Given the description of an element on the screen output the (x, y) to click on. 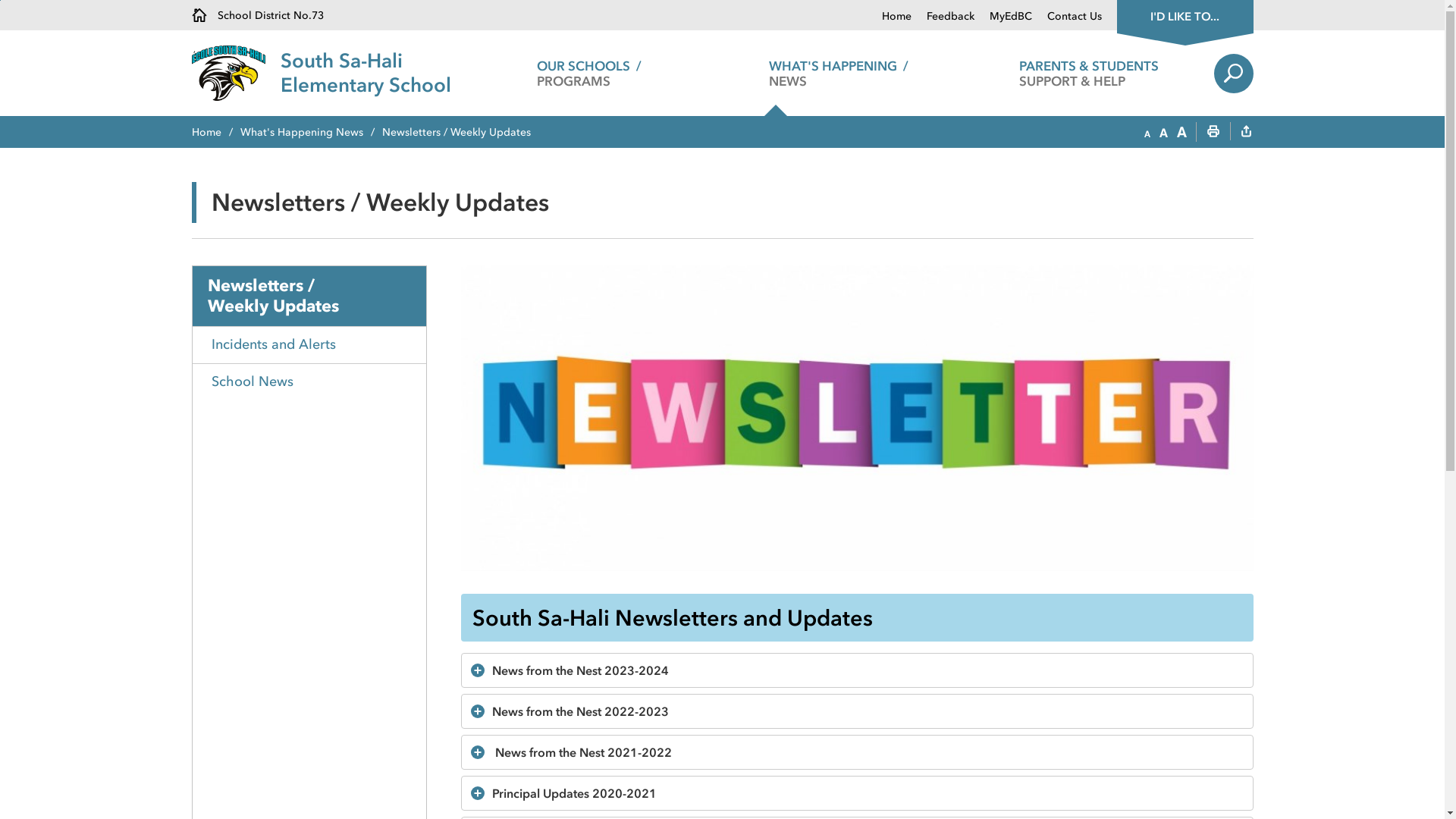
I'D LIKE TO... Element type: text (1184, 15)
Contact Us Element type: text (1066, 15)
South Sa-Hali Elementary School Element type: hover (857, 417)
Home Element type: text (895, 15)
Search Element type: text (1232, 73)
Print This Page Element type: hover (1212, 132)
Feedback Element type: text (942, 15)
South Sa-Hali
Elementary School Element type: text (365, 73)
School News Element type: text (309, 381)
School District No.73 Element type: text (257, 15)
  Element type: text (1245, 132)
Home Element type: text (215, 131)
OUR SCHOOLS
PROGRAMS Element type: text (588, 73)
 News from the Nest 2021-2022 Element type: text (866, 751)
PARENTS & STUDENTS
SUPPORT & HELP Element type: text (1088, 73)
Increase text size Element type: hover (1181, 132)
Newsletters / Weekly Updates Element type: text (309, 296)
Click to return to the homepage Element type: hover (235, 73)
MyEdBC Element type: text (1002, 15)
Default text size Element type: hover (1162, 132)
Incidents and Alerts Element type: text (309, 344)
News from the Nest 2023-2024 Element type: text (866, 669)
News from the Nest 2022-2023 Element type: text (866, 710)
Principal Updates 2020-2021 Element type: text (866, 792)
WHAT'S HAPPENING
NEWS Element type: text (838, 73)
Decrease text size Element type: hover (1146, 132)
What's Happening News Element type: text (310, 131)
Skip to Content Element type: text (0, 0)
